Given the description of an element on the screen output the (x, y) to click on. 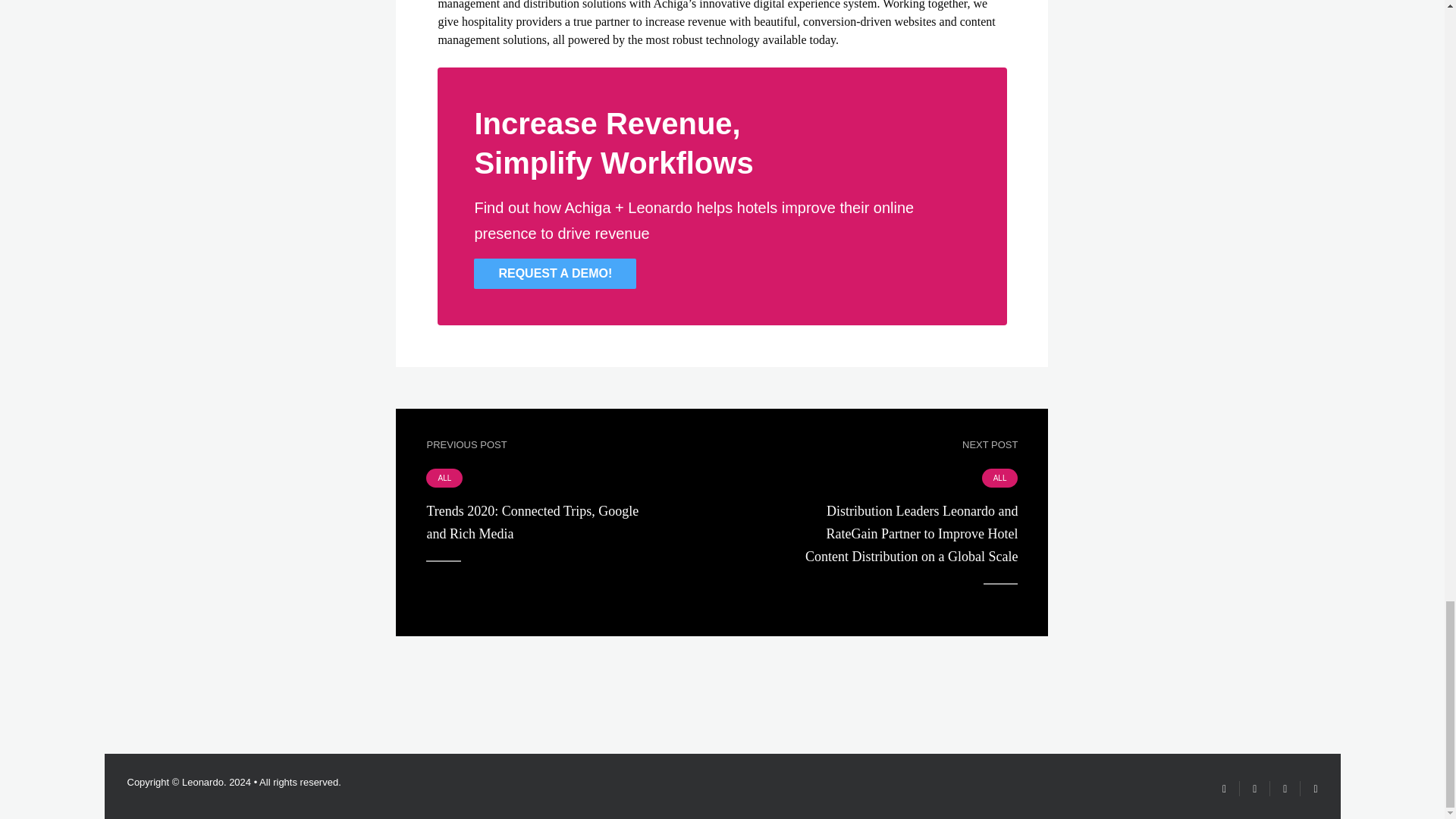
Instagram (1284, 788)
LinkedIn (1308, 788)
REQUEST A DEMO! (555, 273)
Twitter (1224, 788)
Facebook (1254, 788)
